Given the description of an element on the screen output the (x, y) to click on. 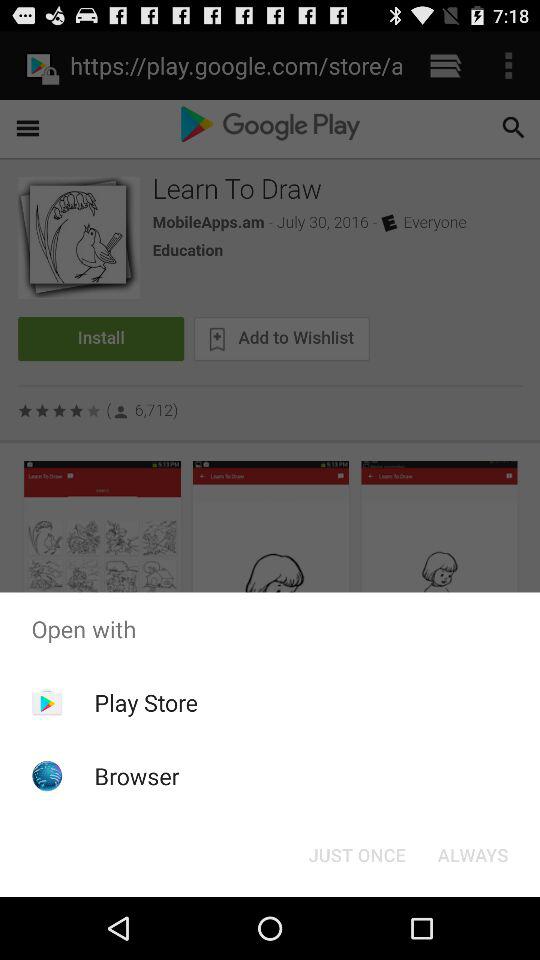
select button next to always item (356, 854)
